Given the description of an element on the screen output the (x, y) to click on. 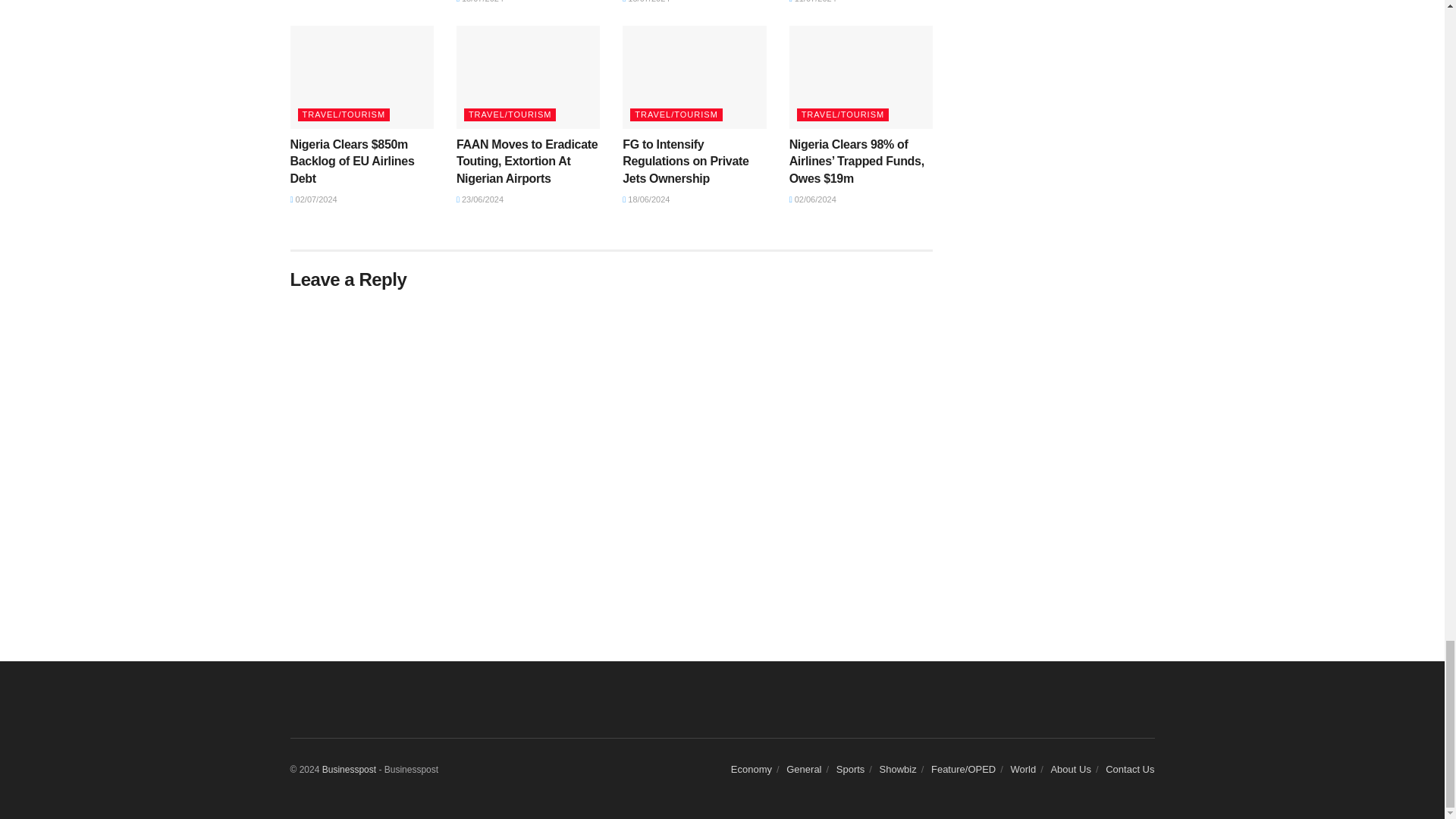
Businesspost (348, 769)
